Given the description of an element on the screen output the (x, y) to click on. 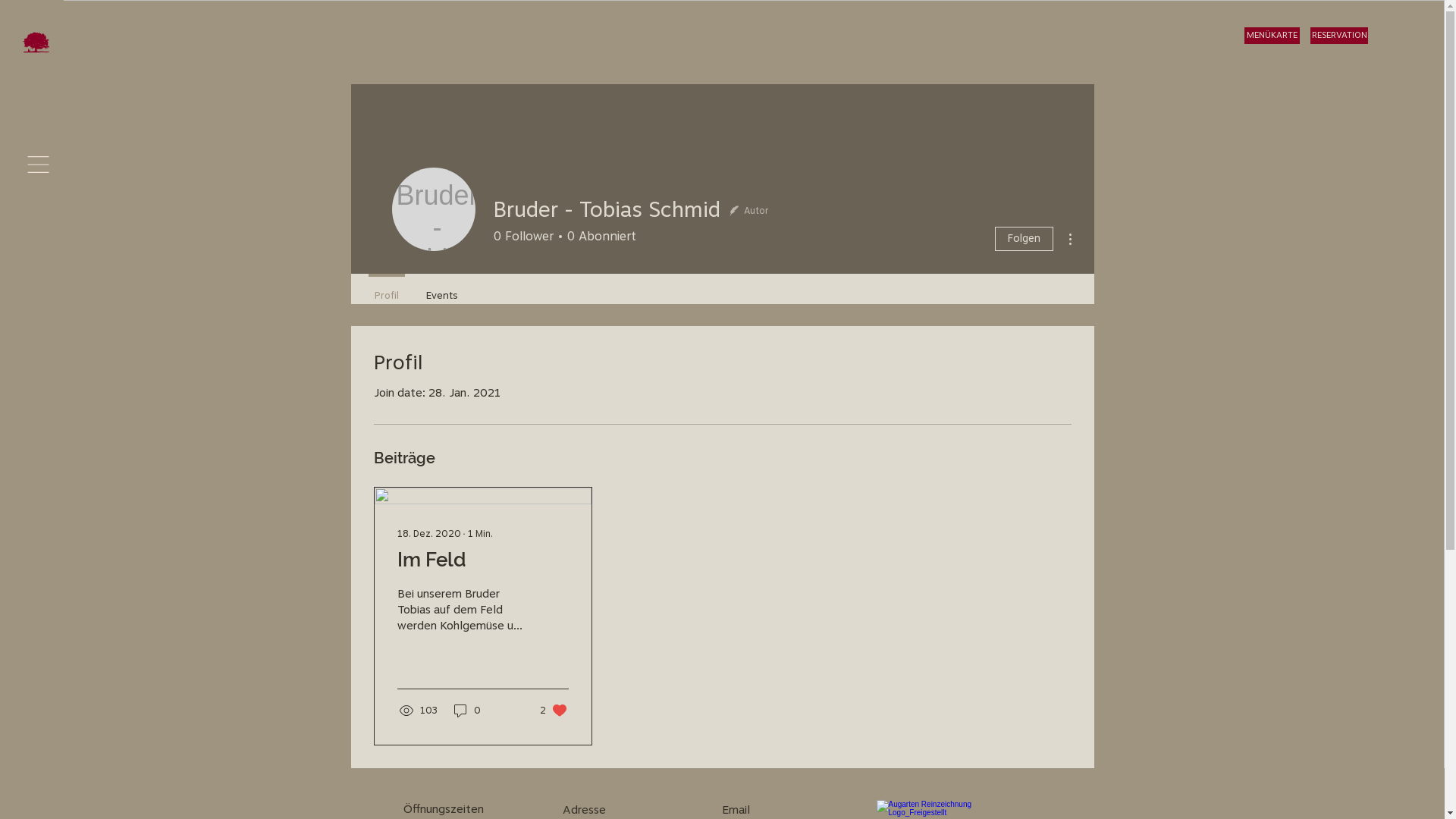
RESERVATION Element type: text (1339, 35)
Profil Element type: text (386, 288)
2 Element type: text (553, 710)
Events Element type: text (441, 288)
Folgen Element type: text (1023, 238)
0
Follower Element type: text (522, 236)
Bruder - Tobias Schmid Element type: hover (432, 209)
0
Abonniert Element type: text (598, 236)
